Given the description of an element on the screen output the (x, y) to click on. 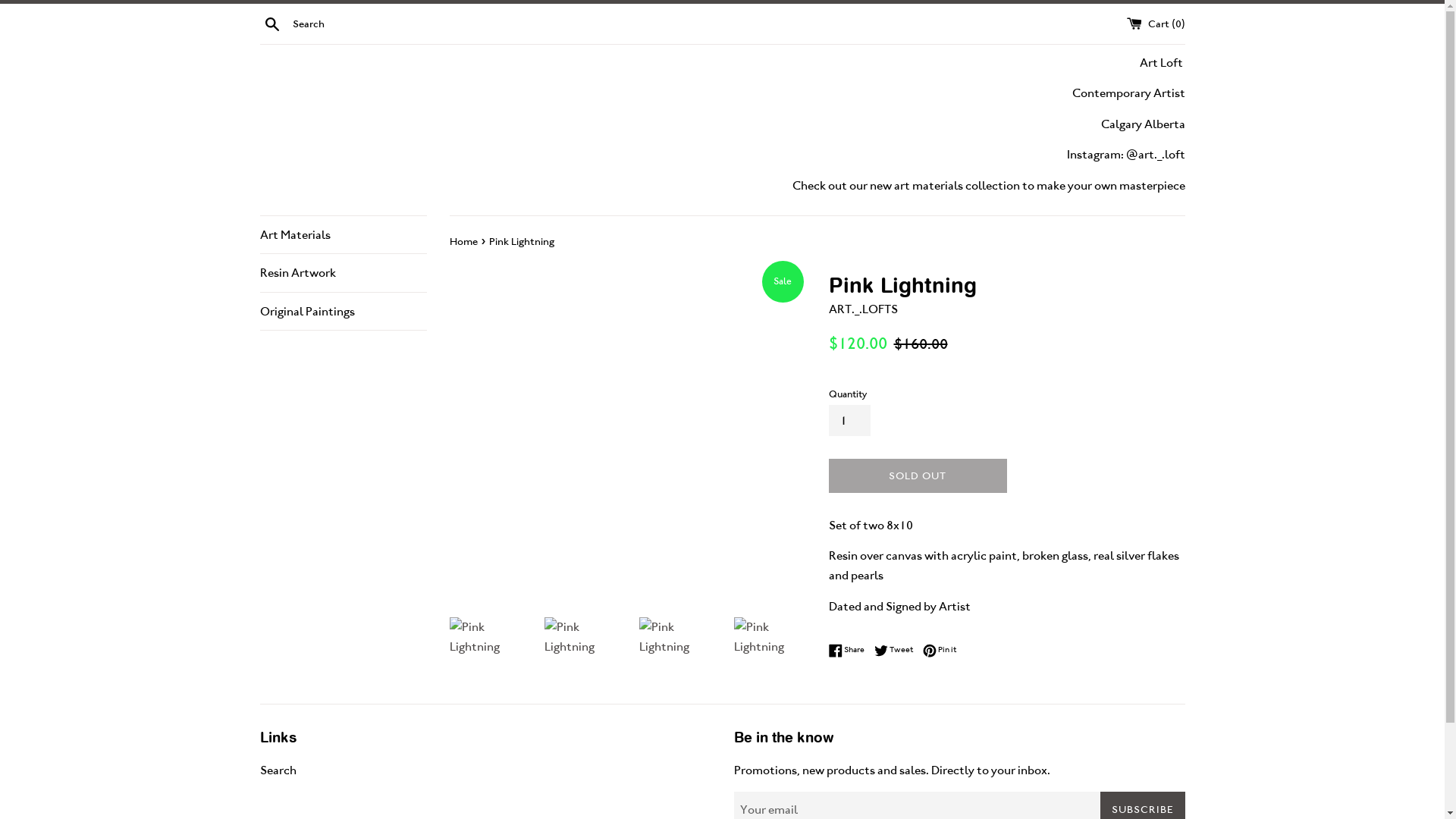
Search Element type: text (277, 769)
Original Paintings Element type: text (342, 311)
Tweet
Tweet on Twitter Element type: text (896, 649)
Pin it
Pin on Pinterest Element type: text (938, 649)
SOLD OUT Element type: text (917, 475)
Home Element type: text (463, 241)
Art Materials Element type: text (342, 235)
Resin Artwork Element type: text (342, 272)
Share
Share on Facebook Element type: text (849, 649)
Search Element type: text (271, 22)
Cart (0) Element type: text (1155, 22)
